Given the description of an element on the screen output the (x, y) to click on. 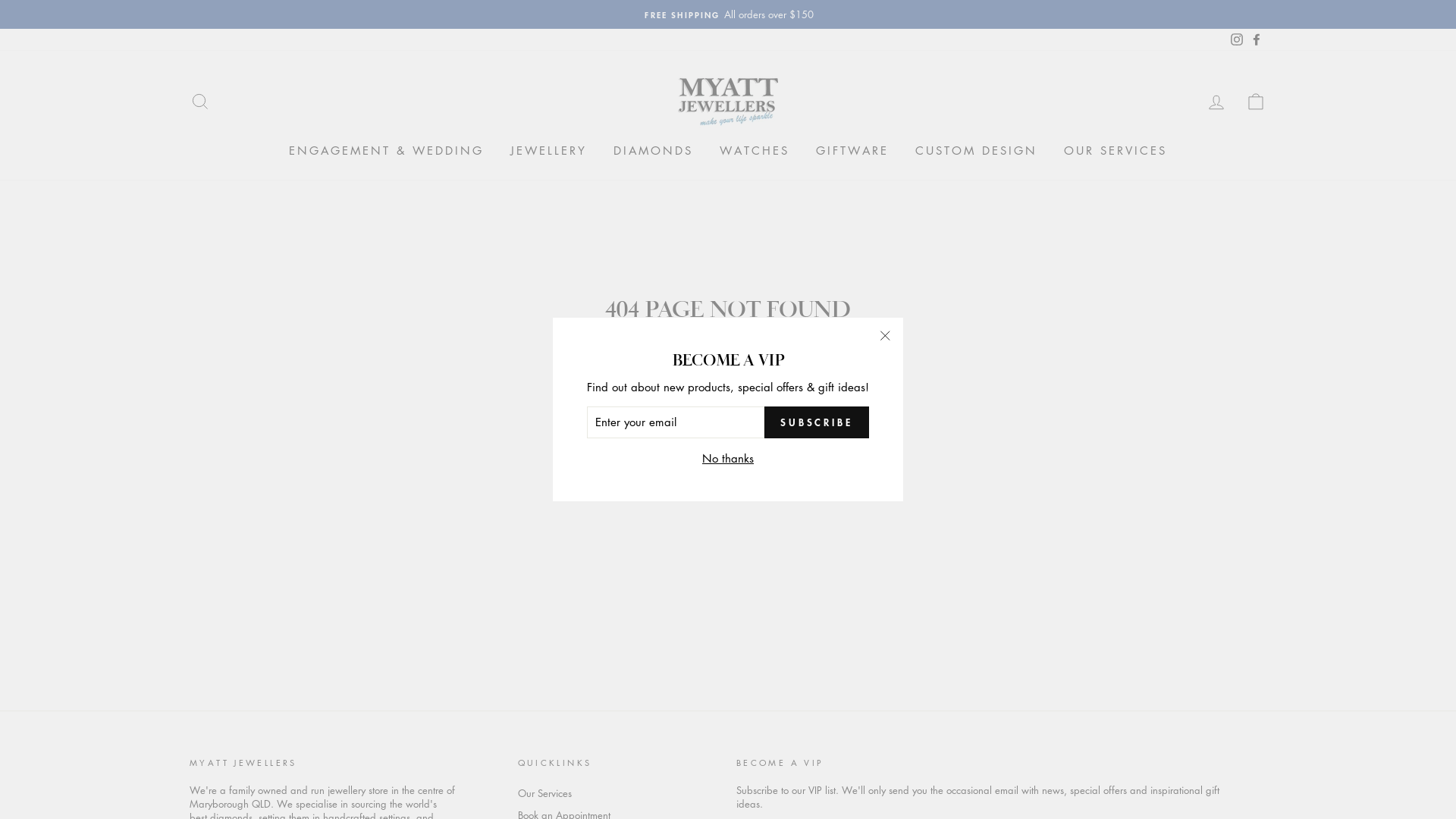
ENGAGEMENT & WEDDING Element type: text (386, 150)
GIFTWARE Element type: text (852, 150)
MYATT JEWELLERS1/384 Kent St Maryborough QLD Element type: text (727, 14)
CART Element type: text (1255, 100)
Continue shopping Element type: text (727, 359)
WATCHES Element type: text (754, 150)
Skip to content Element type: text (0, 0)
CUSTOM DESIGN Element type: text (975, 150)
OUR SERVICES Element type: text (1115, 150)
No thanks Element type: text (727, 458)
SEARCH Element type: text (199, 100)
JEWELLERY Element type: text (548, 150)
SUBSCRIBE Element type: text (816, 422)
LOG IN Element type: text (1216, 100)
DIAMONDS Element type: text (653, 150)
Instagram Element type: text (1236, 39)
"Close (esc)" Element type: text (884, 335)
Facebook Element type: text (1256, 39)
Our Services Element type: text (544, 793)
